Given the description of an element on the screen output the (x, y) to click on. 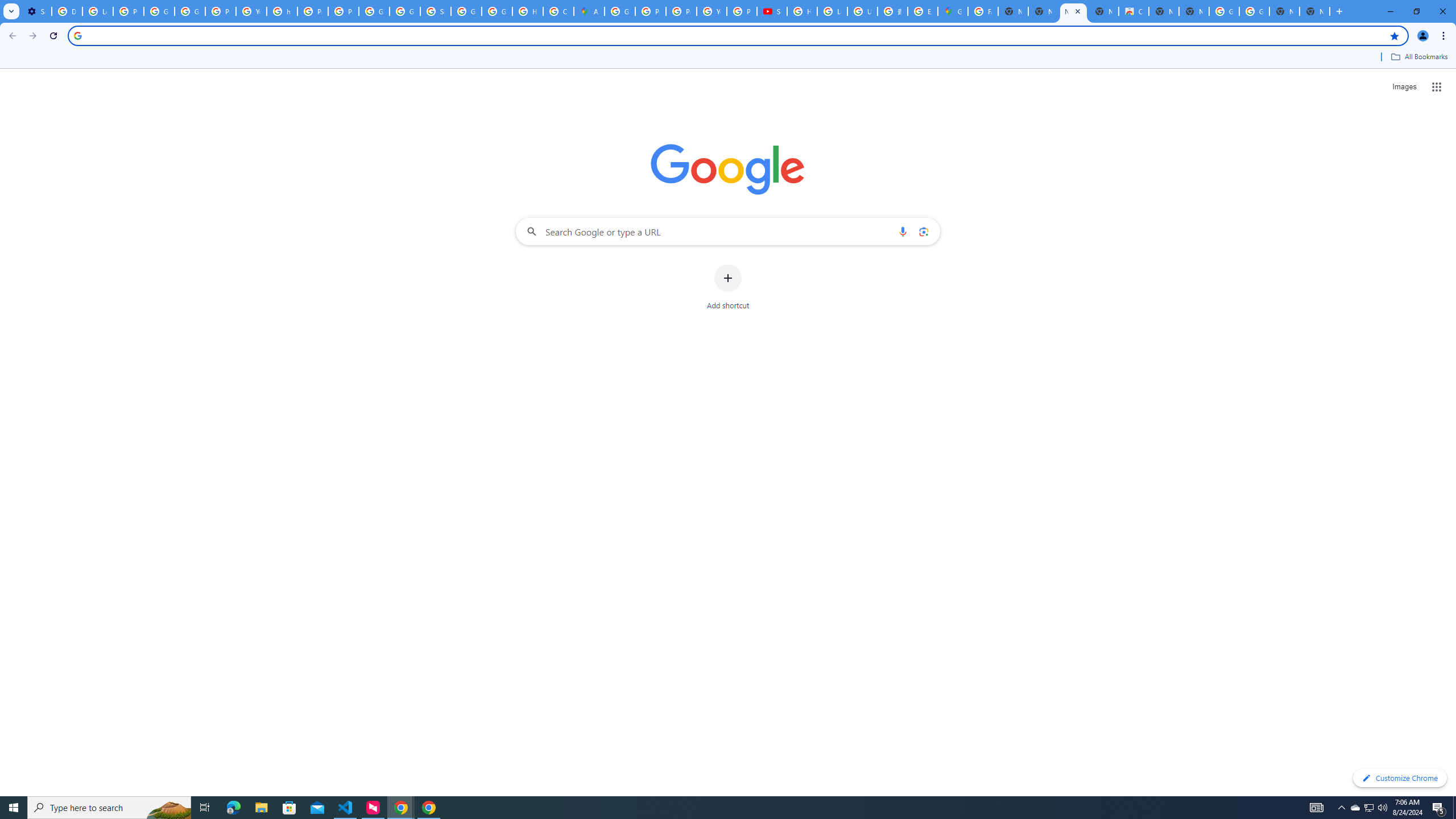
New Tab (1193, 11)
Explore new street-level details - Google Maps Help (922, 11)
Bookmarks (728, 58)
Privacy Help Center - Policies Help (681, 11)
Google Images (1254, 11)
Chrome Web Store (1133, 11)
